Given the description of an element on the screen output the (x, y) to click on. 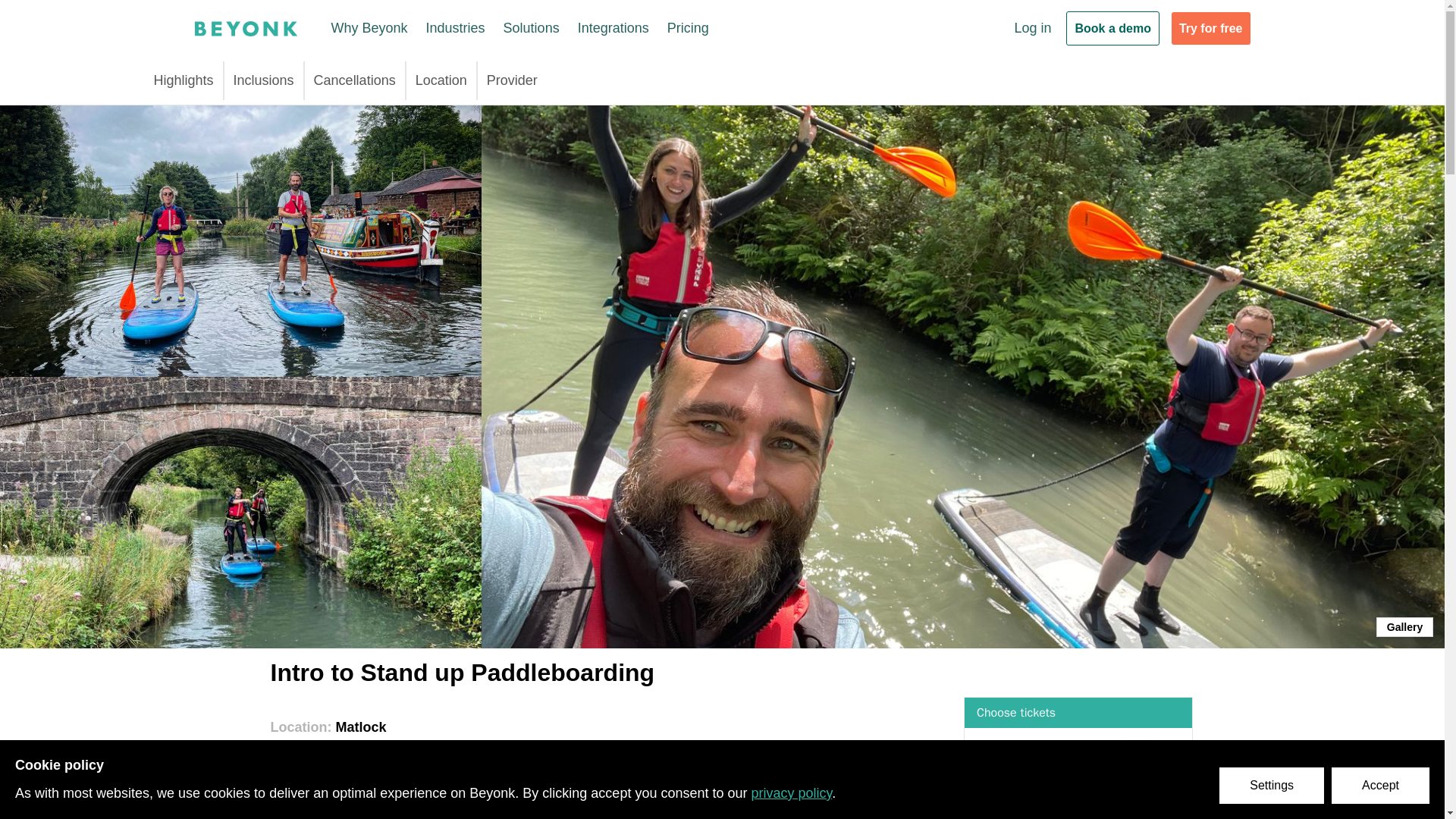
Industries (455, 28)
Gallery (1403, 627)
Solutions (531, 28)
Booking Form (1077, 758)
Cancellations (355, 79)
Location (440, 79)
Integrations (613, 28)
Try for free (1211, 28)
Highlights (182, 79)
Provider (511, 79)
Why Beyonk (368, 28)
Book a demo (1111, 28)
Inclusions (263, 79)
